Given the description of an element on the screen output the (x, y) to click on. 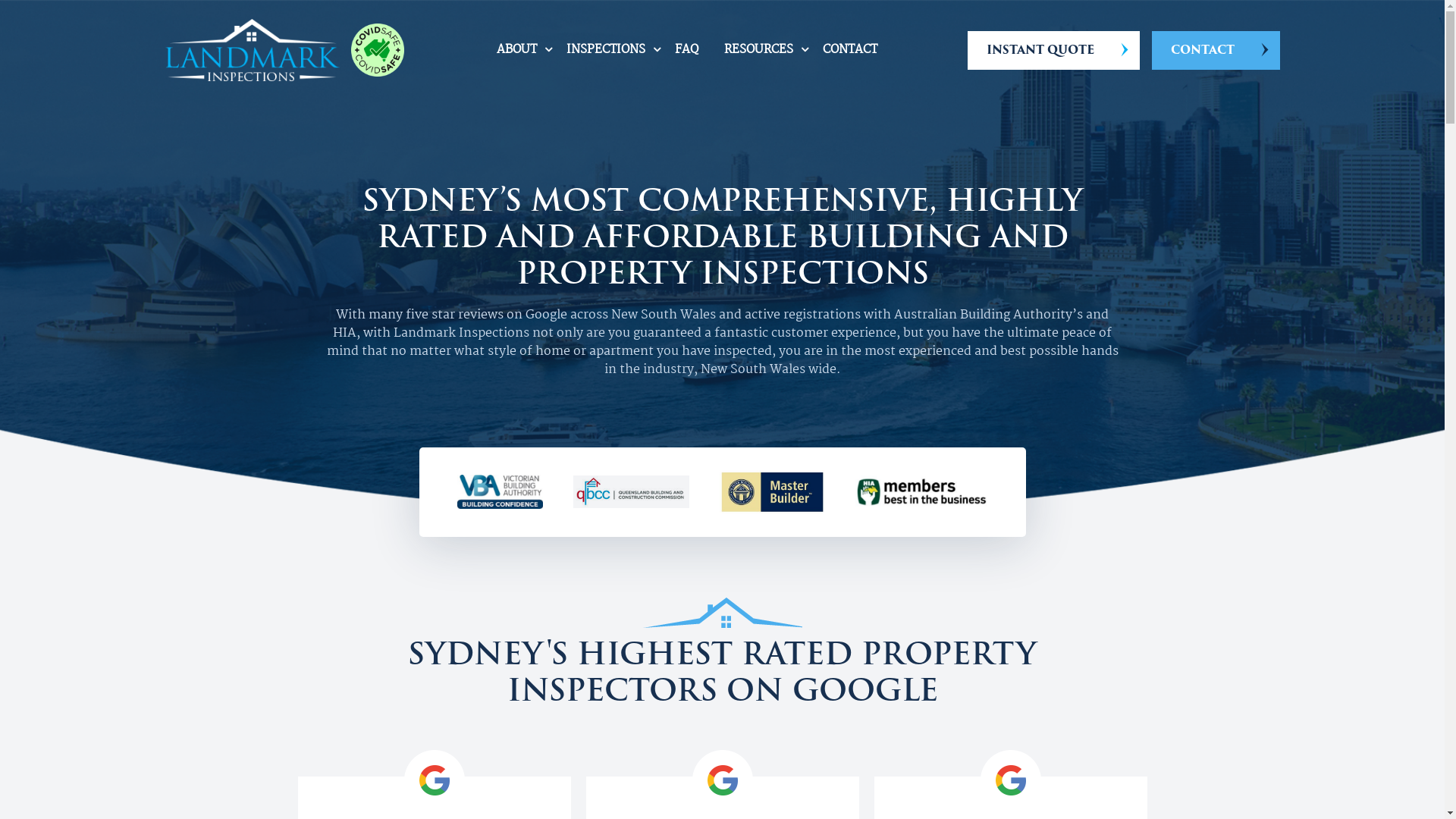
FAQ Element type: text (686, 50)
CONTACT Element type: text (1215, 50)
INSPECTIONS Element type: text (605, 50)
RESOURCES Element type: text (758, 50)
ABOUT Element type: text (516, 50)
INSTANT QUOTE Element type: text (1053, 50)
CONTACT Element type: text (849, 50)
